Given the description of an element on the screen output the (x, y) to click on. 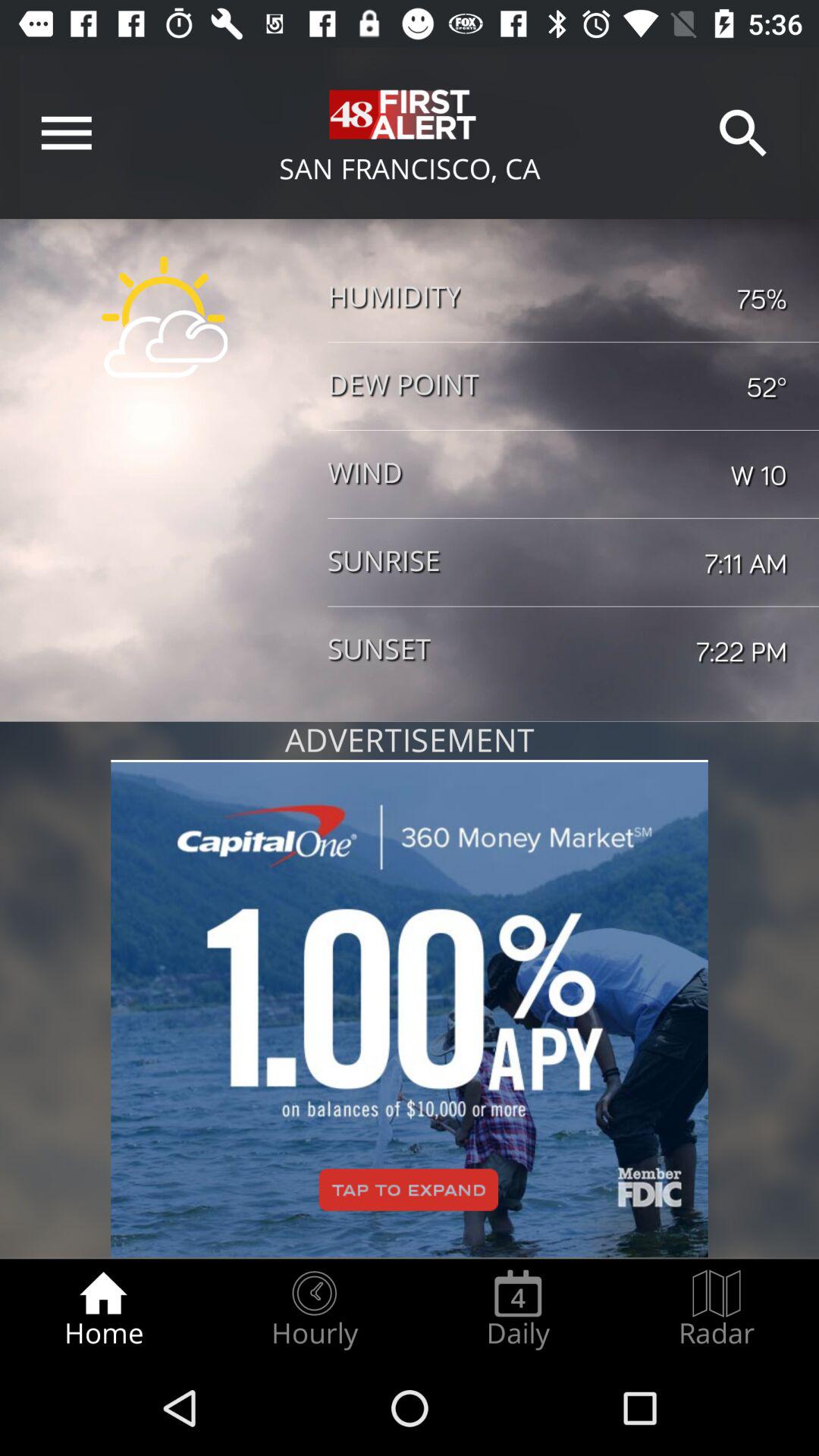
scroll until the home radio button (103, 1309)
